Given the description of an element on the screen output the (x, y) to click on. 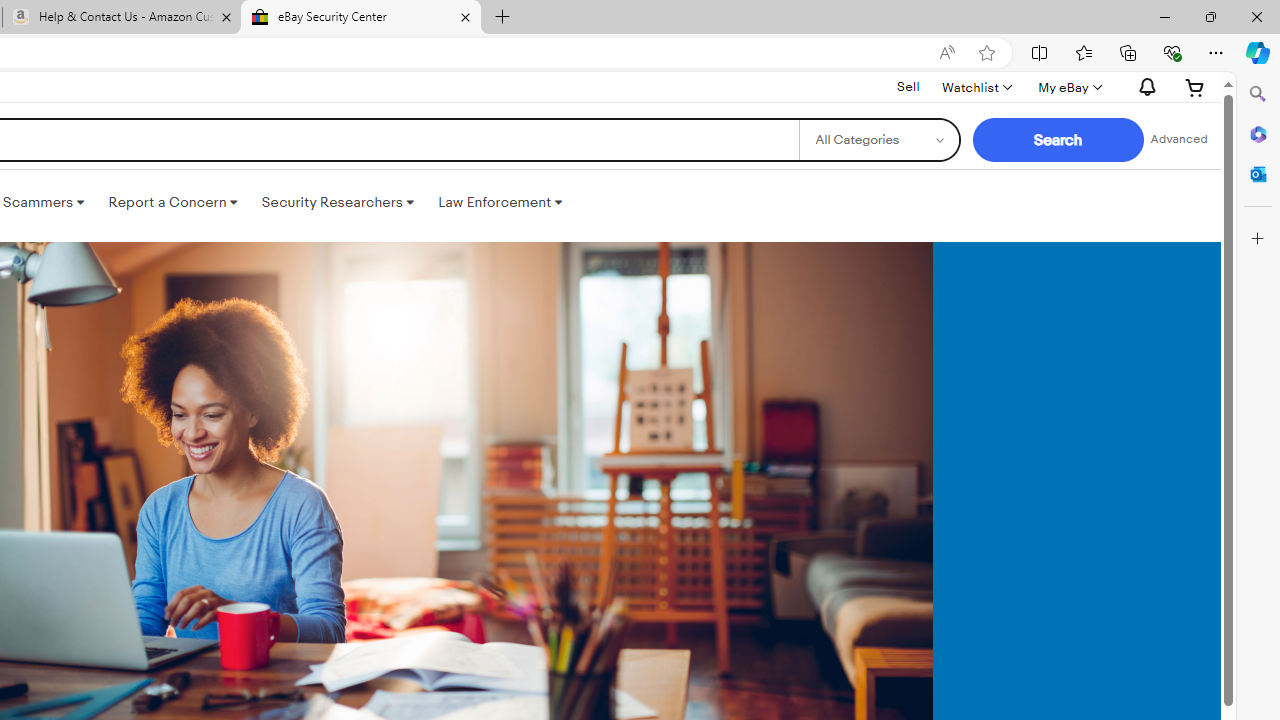
Sell (908, 87)
Sell (907, 86)
Report a Concern  (173, 202)
AutomationID: gh-eb-Alerts (1144, 87)
Watchlist (975, 87)
Advanced Search (1179, 139)
Expand Cart (1195, 87)
Report a Concern  (173, 202)
My eBayExpand My eBay (1068, 87)
Security Researchers  (337, 202)
